Given the description of an element on the screen output the (x, y) to click on. 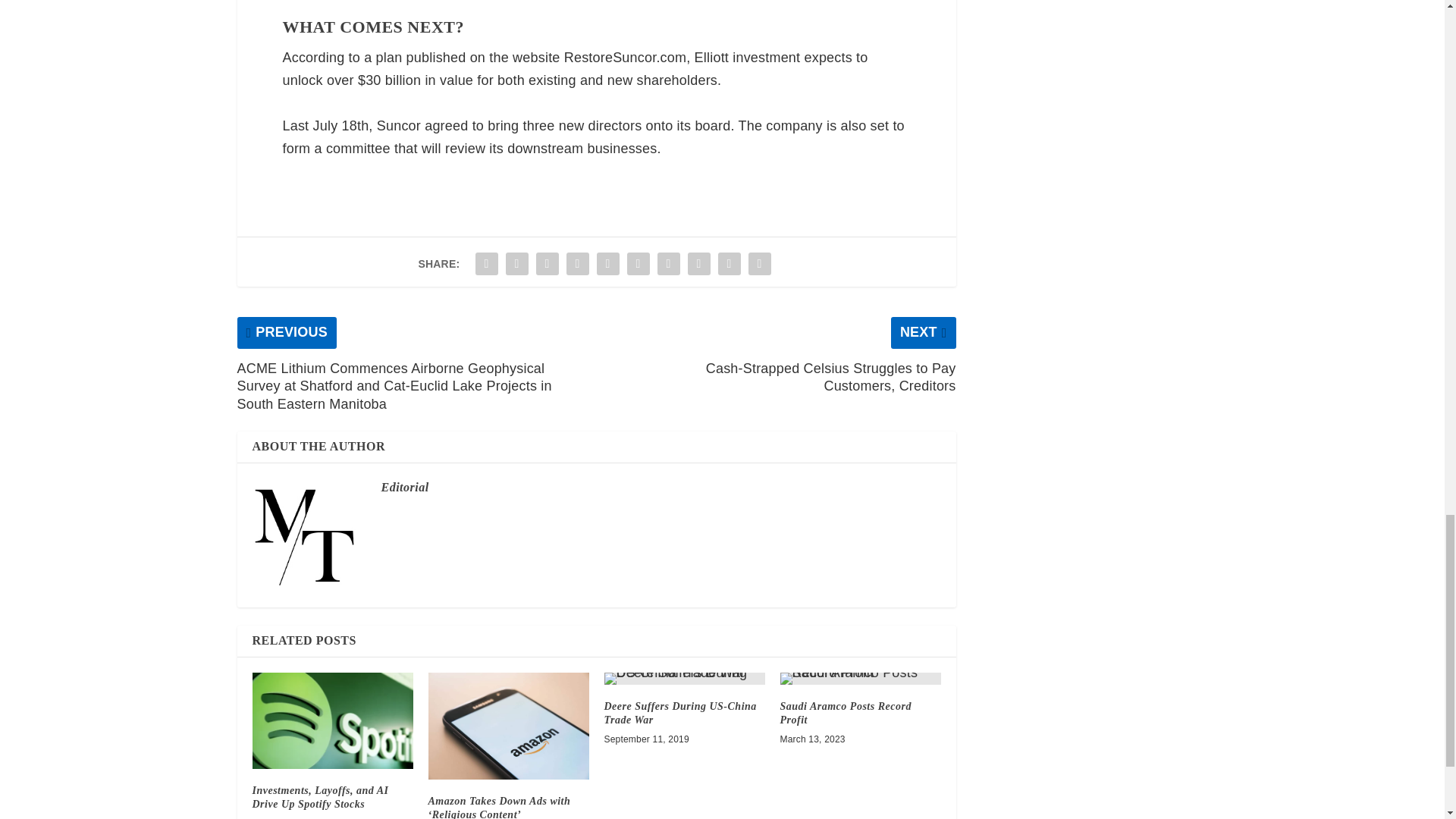
Investments, Layoffs, and AI Drive Up Spotify Stocks (319, 796)
Saudi Aramco Posts Record Profit (859, 678)
Saudi Aramco Posts Record Profit (844, 713)
Deere Suffers During US-China Trade War (684, 678)
Investments, Layoffs, and AI Drive Up Spotify Stocks (331, 720)
Deere Suffers During US-China Trade War (679, 713)
View all posts by Editorial (404, 486)
Editorial (404, 486)
